Given the description of an element on the screen output the (x, y) to click on. 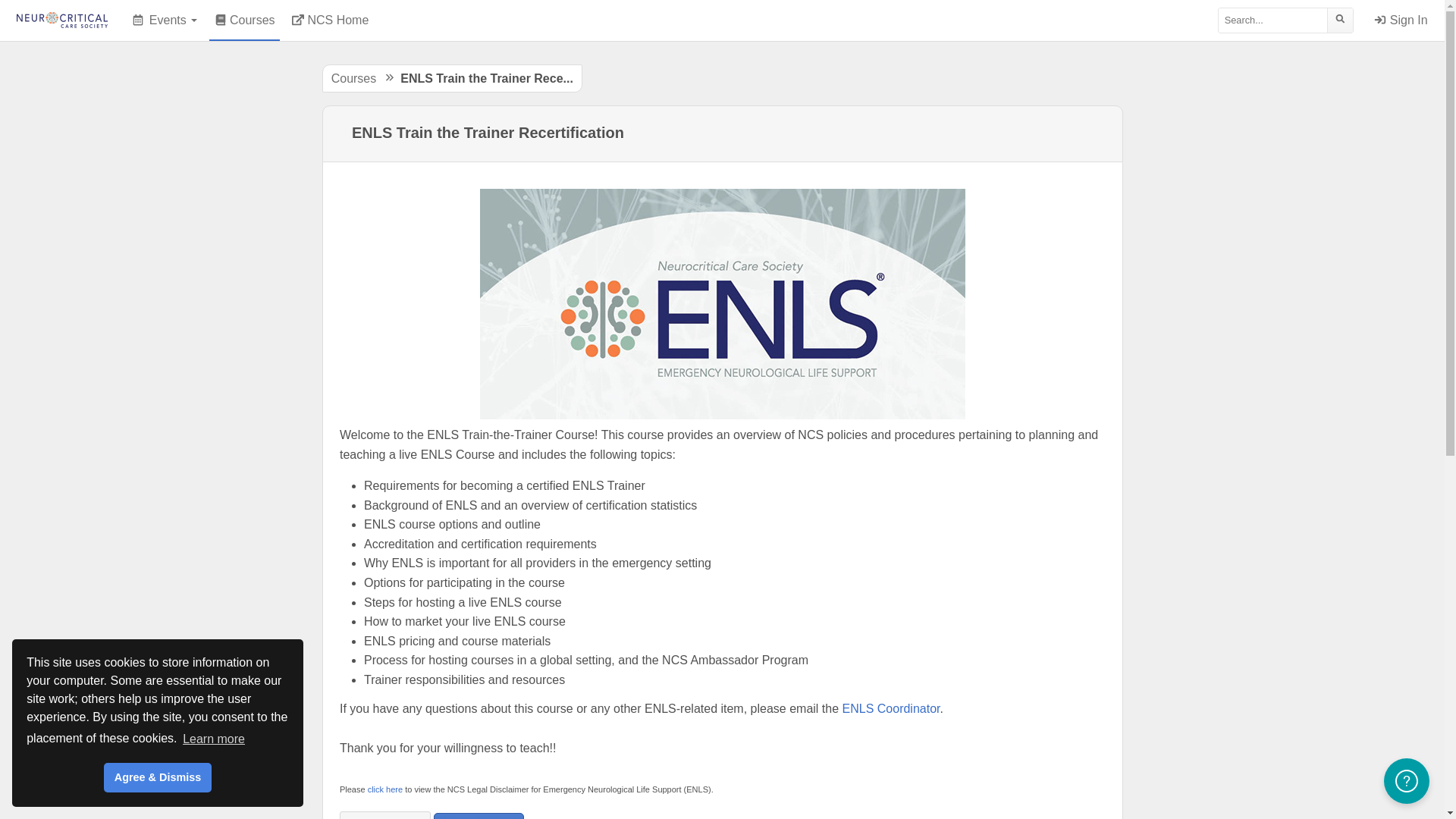
NCS (62, 20)
click here (385, 788)
Courses (354, 78)
Events (165, 20)
Learn more (213, 738)
ENLS Coordinator (891, 707)
Sign In (1401, 20)
NCS Home (330, 20)
Events (165, 20)
Courses (244, 20)
Purchase (478, 816)
Courses (244, 20)
